Given the description of an element on the screen output the (x, y) to click on. 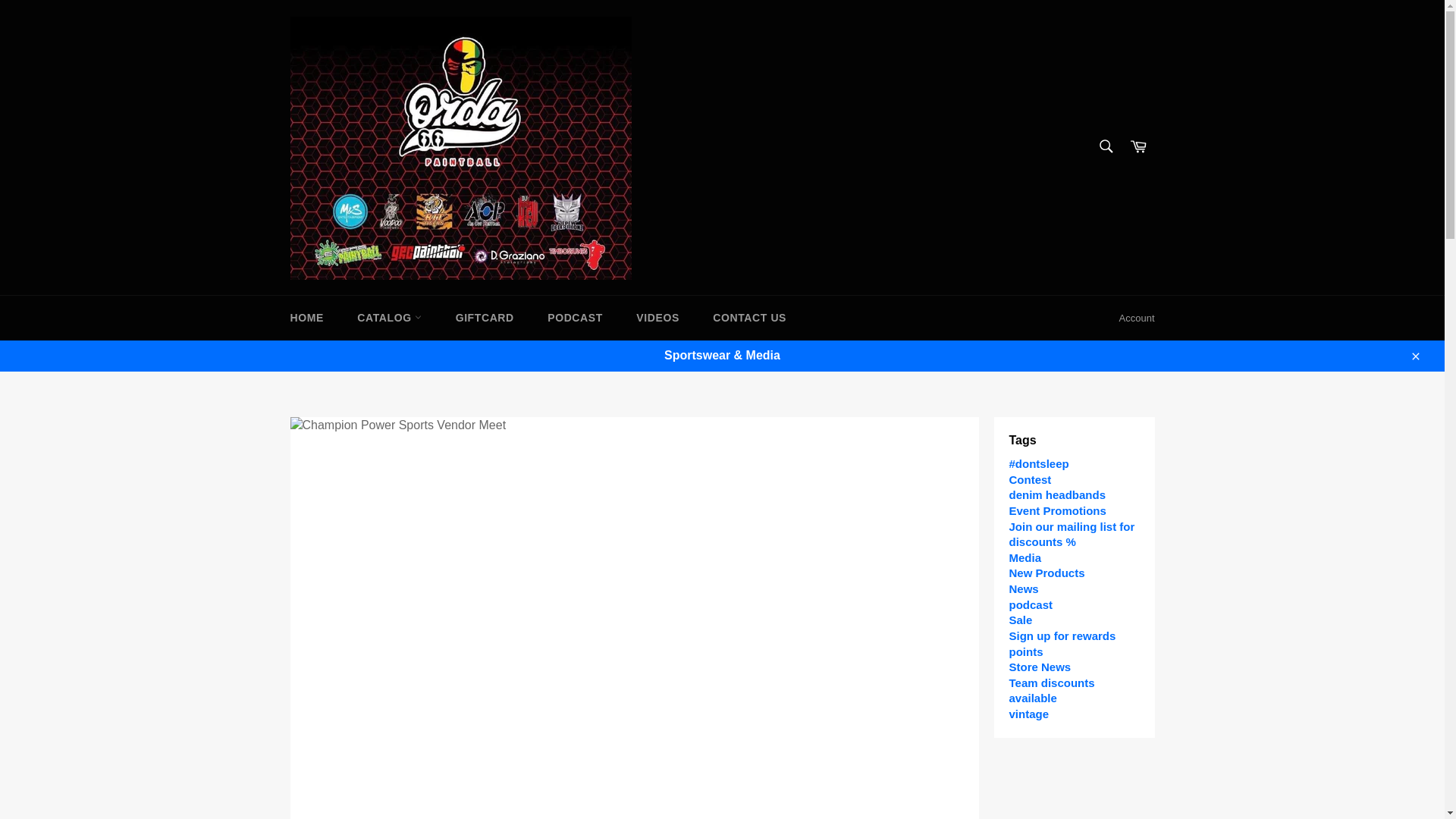
Cart (1138, 147)
Show articles tagged denim headbands (1057, 494)
CONTACT US (749, 317)
Show articles tagged News (1023, 588)
Show articles tagged Media (1025, 557)
Show articles tagged vintage (1028, 713)
VIDEOS (657, 317)
Show articles tagged Sale (1020, 619)
Show articles tagged New Products (1046, 572)
PODCAST (574, 317)
Show articles tagged Store News (1039, 666)
Search (1104, 146)
Show articles tagged Event Promotions (1057, 510)
Show articles tagged podcast (1030, 604)
Show articles tagged Sign up for rewards points (1062, 643)
